Given the description of an element on the screen output the (x, y) to click on. 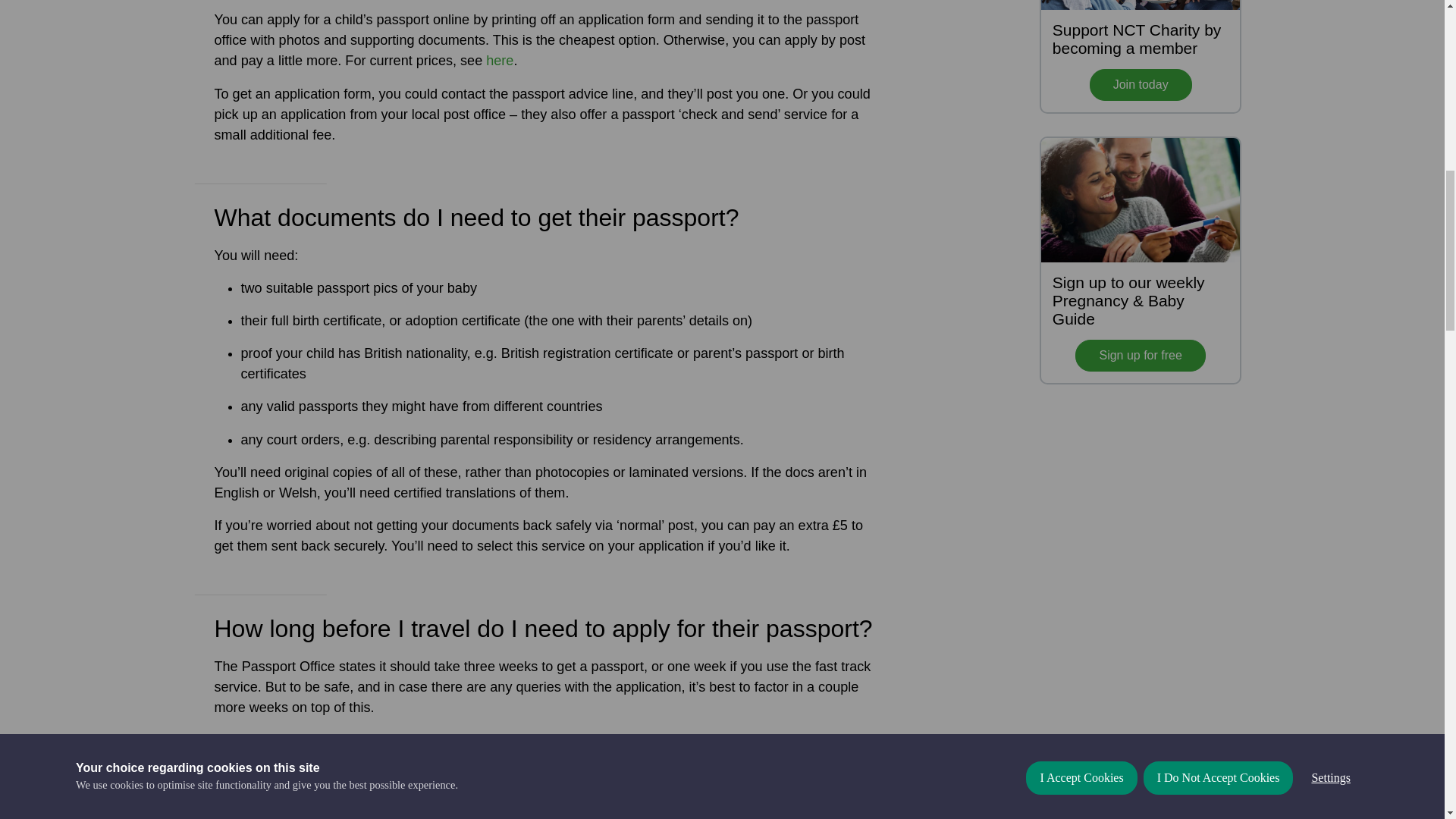
Settings (1330, 9)
I Do Not Accept Cookies (1218, 17)
I Accept Cookies (1081, 24)
